Given the description of an element on the screen output the (x, y) to click on. 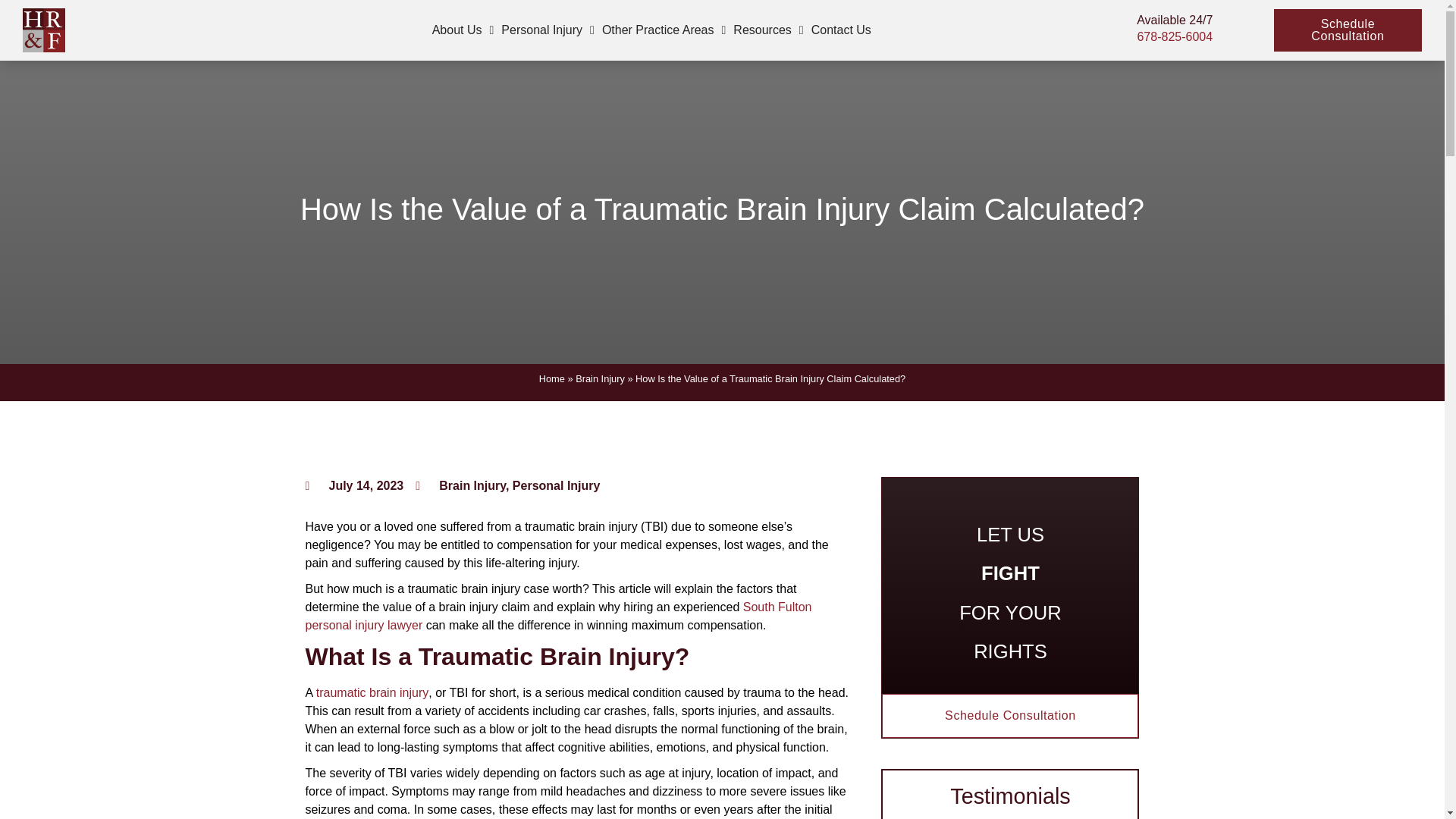
Personal Injury (547, 30)
Resources (767, 30)
About Us (462, 30)
Contact Us (841, 30)
Other Practice Areas (663, 30)
